Given the description of an element on the screen output the (x, y) to click on. 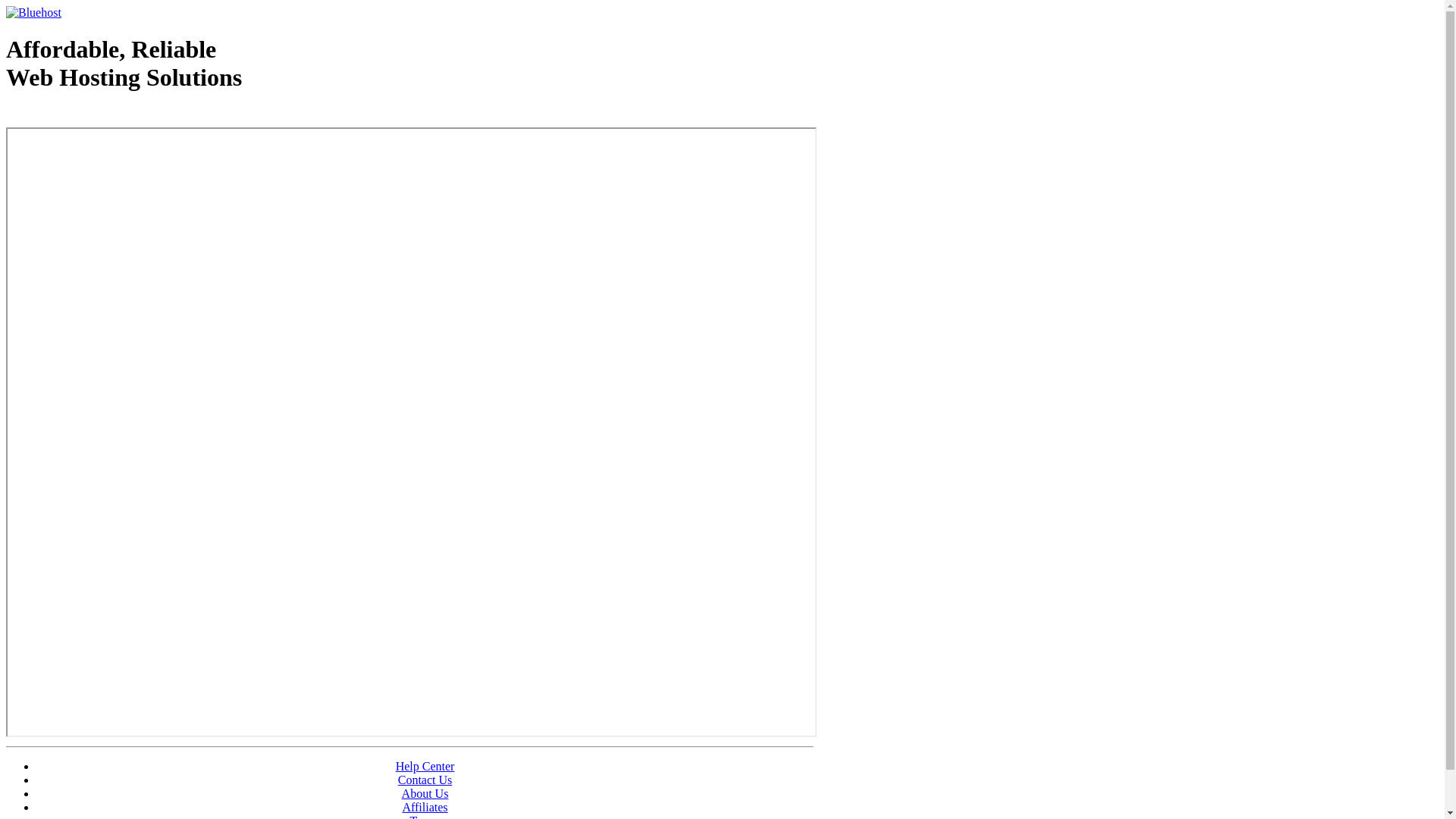
Help Center Element type: text (425, 765)
Contact Us Element type: text (425, 779)
About Us Element type: text (424, 793)
Affiliates Element type: text (424, 806)
Web Hosting - courtesy of www.bluehost.com Element type: text (94, 115)
